Given the description of an element on the screen output the (x, y) to click on. 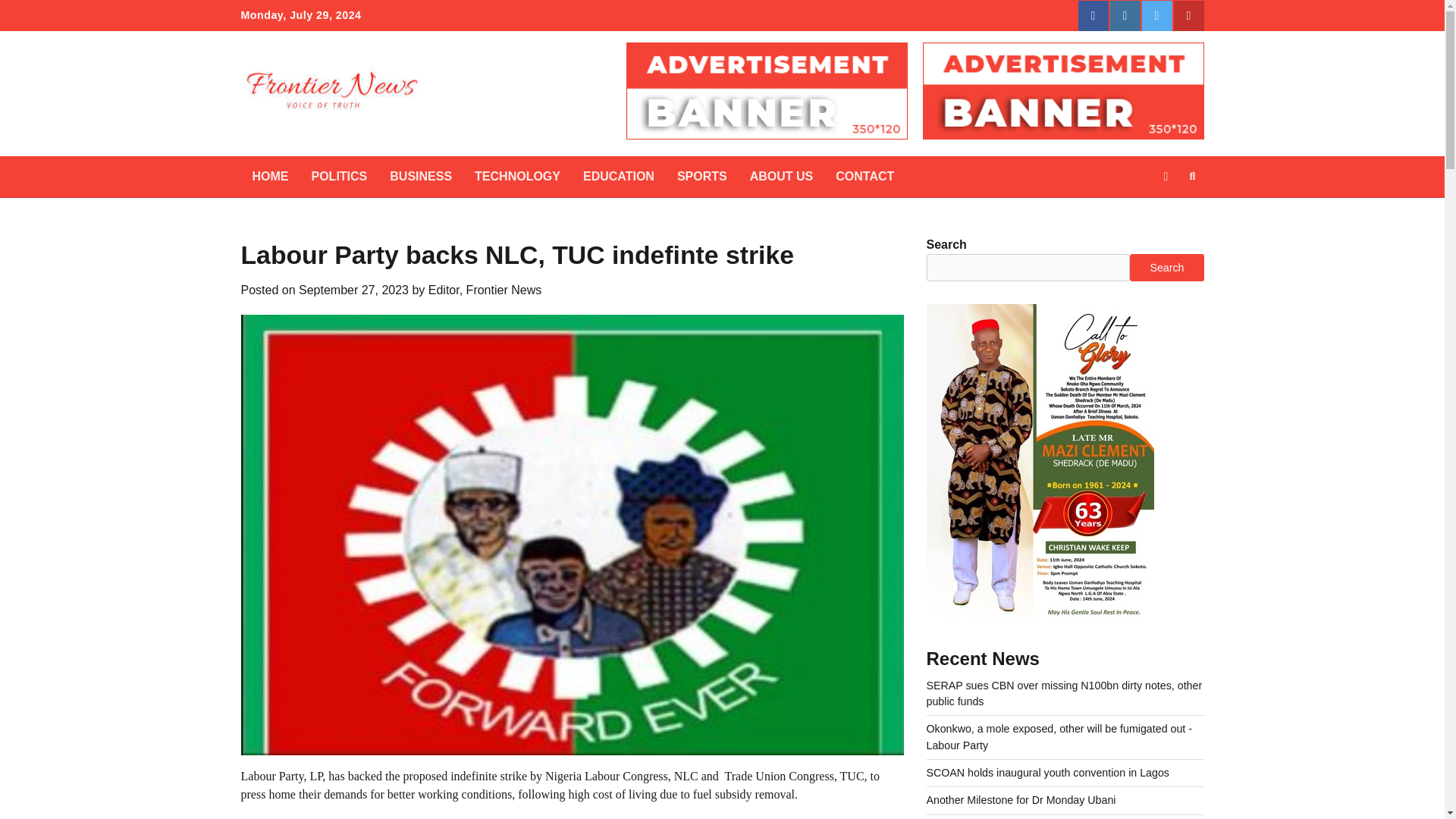
ABOUT US (781, 176)
facebook (1093, 15)
Editor, Frontier News (484, 289)
youtube (1188, 15)
TECHNOLOGY (517, 176)
View Random Post (1165, 176)
BUSINESS (420, 176)
SPORTS (701, 176)
CONTACT (864, 176)
September 27, 2023 (353, 289)
POLITICS (338, 176)
twitter (1156, 15)
instagram (1124, 15)
Search (1164, 212)
EDUCATION (618, 176)
